Given the description of an element on the screen output the (x, y) to click on. 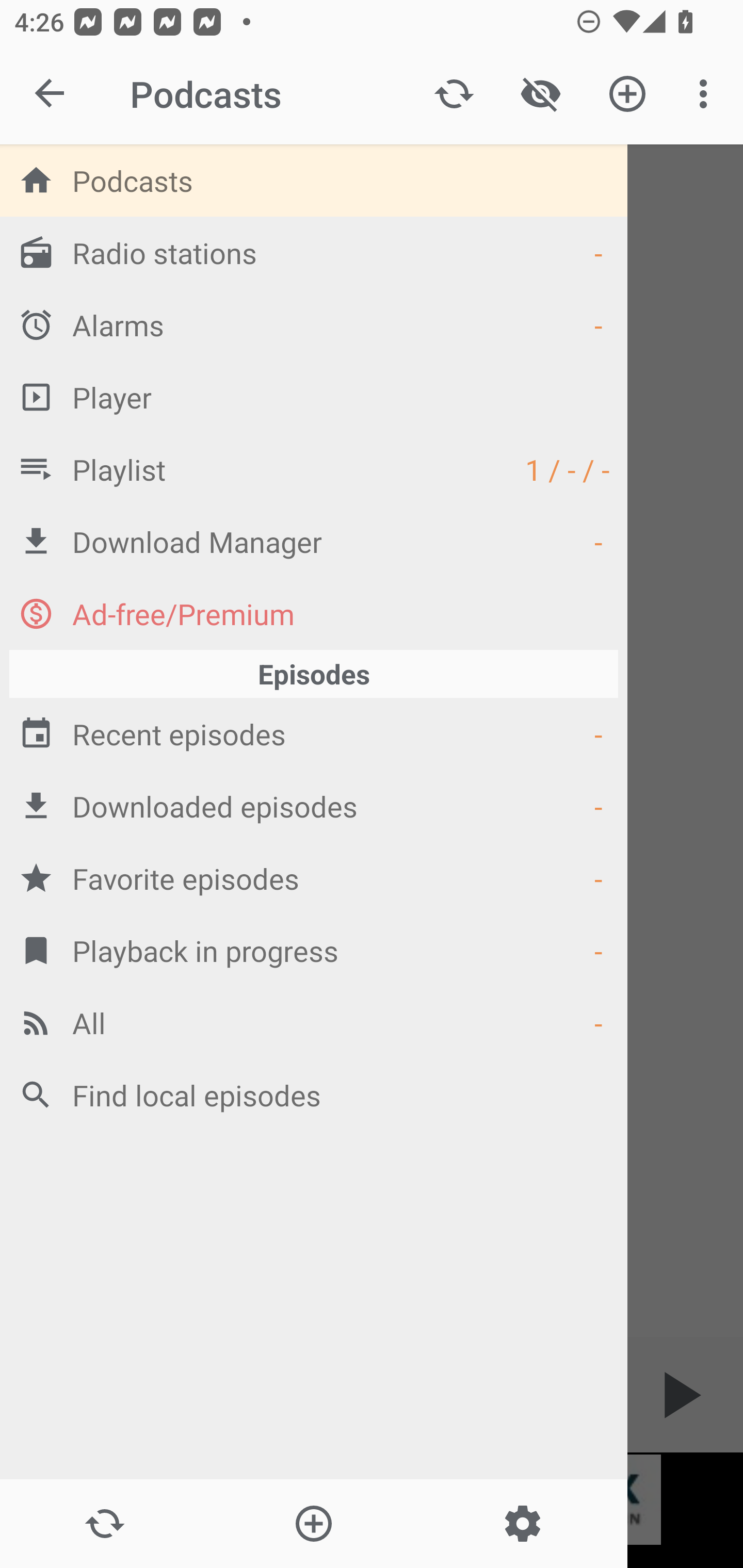
Close navigation sidebar (50, 93)
Update (453, 93)
Show / Hide played content (540, 93)
Add new Podcast (626, 93)
More options (706, 93)
Podcasts (313, 180)
Radio stations  -  (313, 252)
Alarms  -  (313, 324)
Player (313, 396)
Playlist 1 / - / - (313, 468)
Download Manager  -  (313, 540)
Ad-free/Premium (313, 613)
Recent episodes  -  (313, 733)
Downloaded episodes  -  (313, 805)
Favorite episodes  -  (313, 878)
Playback in progress  -  (313, 950)
All  -  (313, 1022)
Find local episodes (313, 1094)
Update (104, 1523)
Add new Podcast (312, 1523)
Settings (522, 1523)
